Given the description of an element on the screen output the (x, y) to click on. 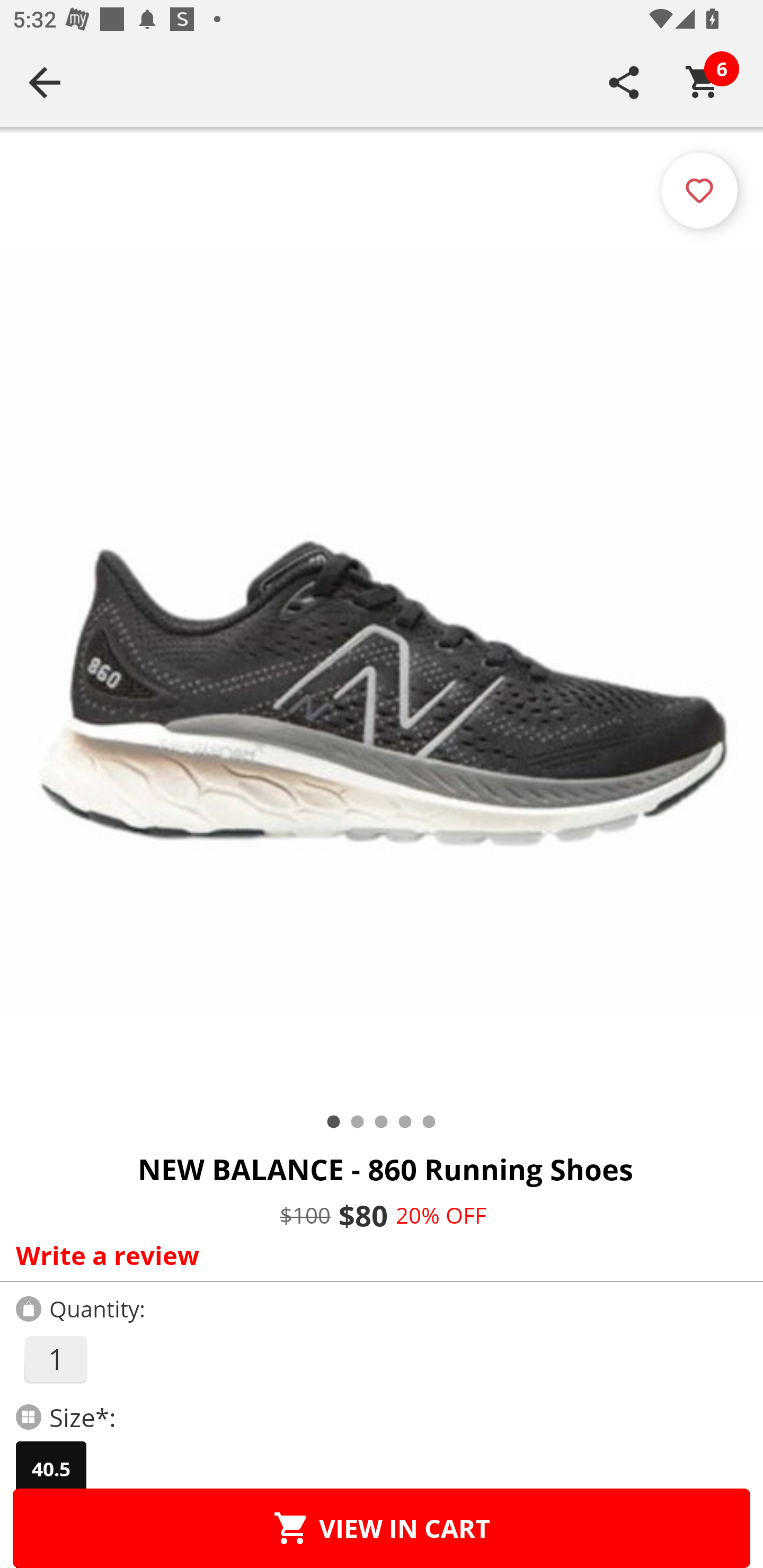
Navigate up (44, 82)
SHARE (623, 82)
Cart (703, 81)
Write a review (377, 1255)
1 (55, 1358)
40.5 (51, 1468)
VIEW IN CART (381, 1528)
